Given the description of an element on the screen output the (x, y) to click on. 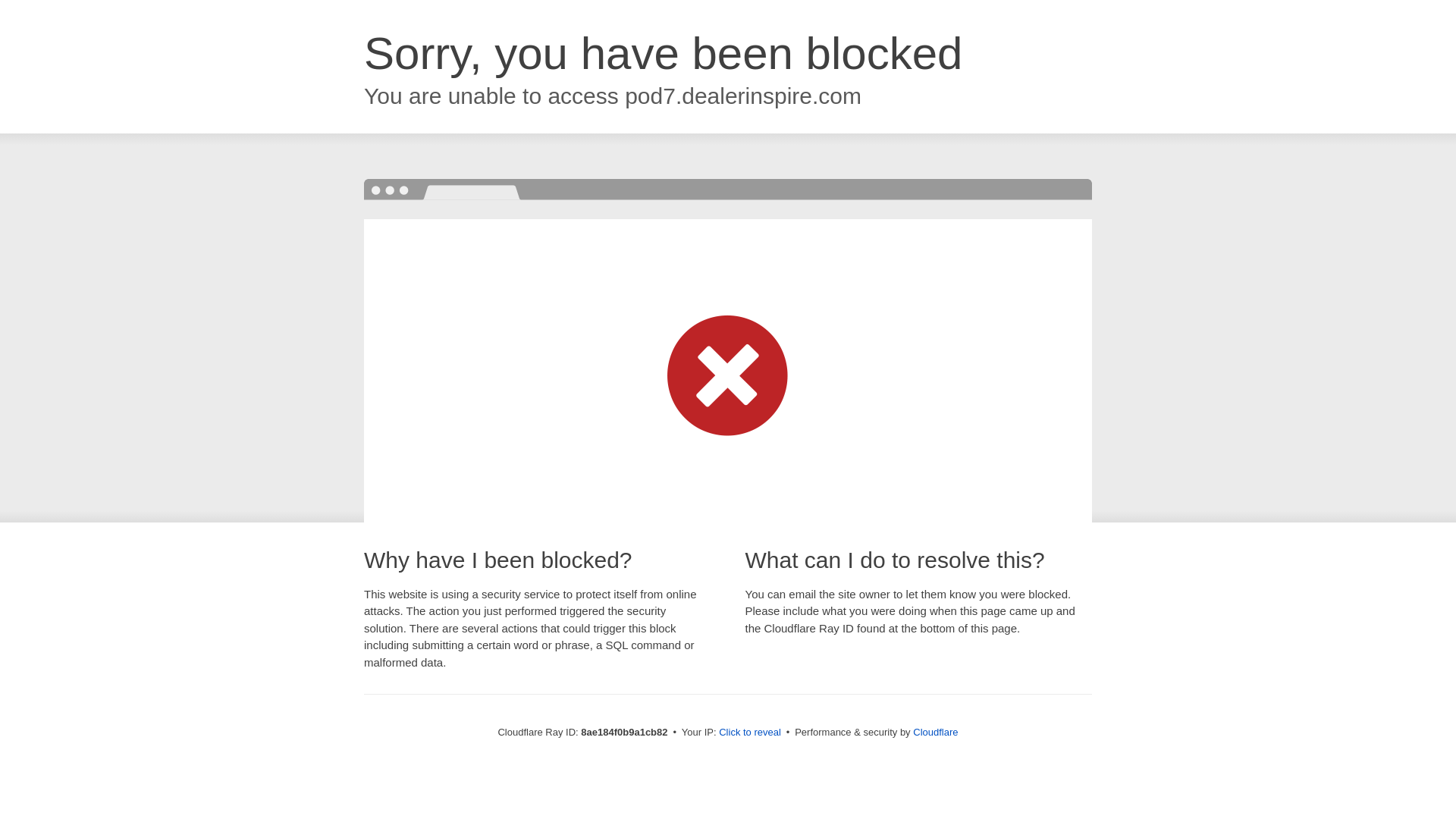
Click to reveal (749, 732)
Cloudflare (935, 731)
